Given the description of an element on the screen output the (x, y) to click on. 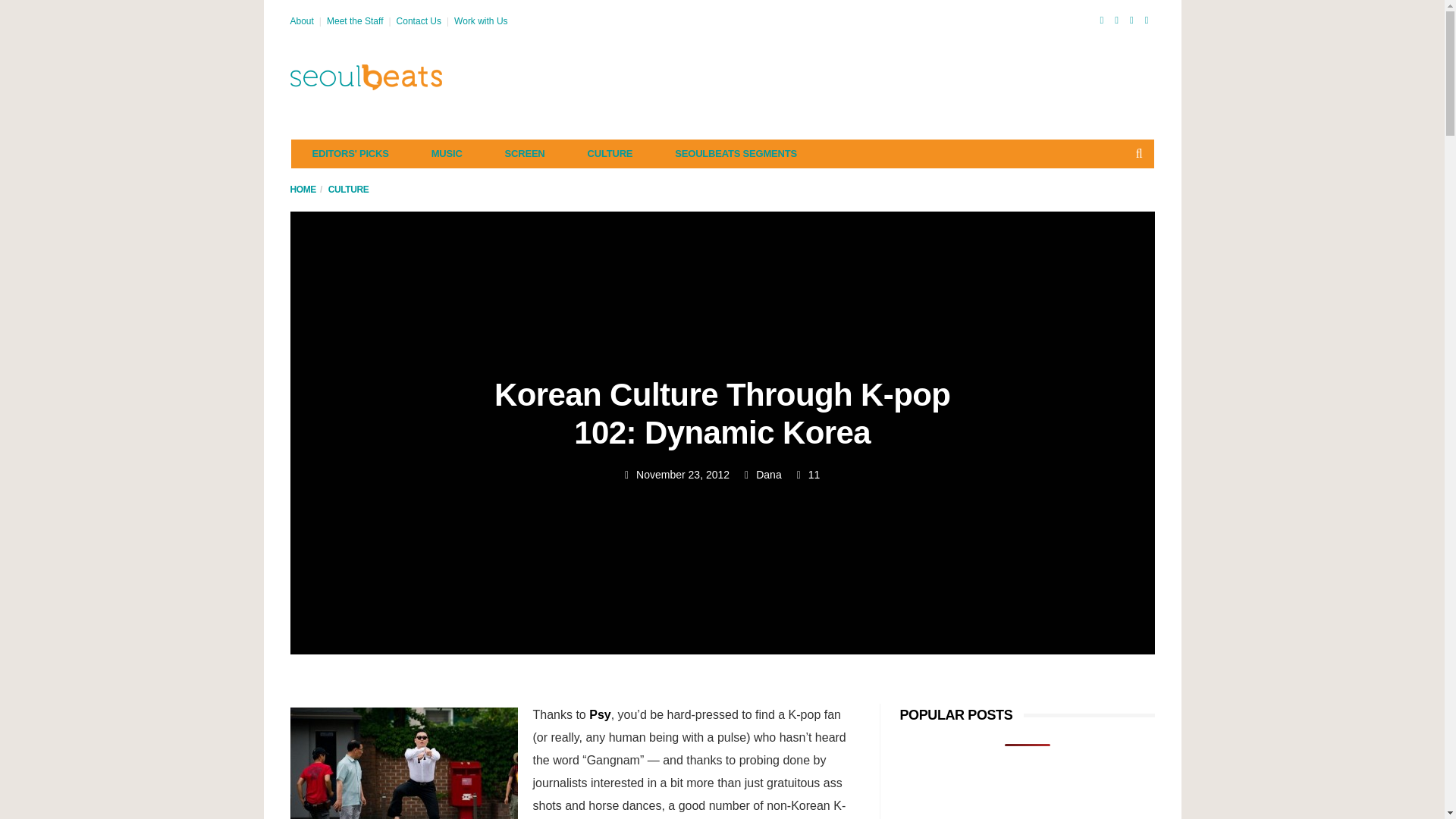
Advertisement (878, 77)
Contact Us (418, 20)
Work with Us (480, 20)
Meet the Staff (355, 20)
About (301, 20)
MUSIC (446, 153)
EDITORS' PICKS (350, 153)
